Given the description of an element on the screen output the (x, y) to click on. 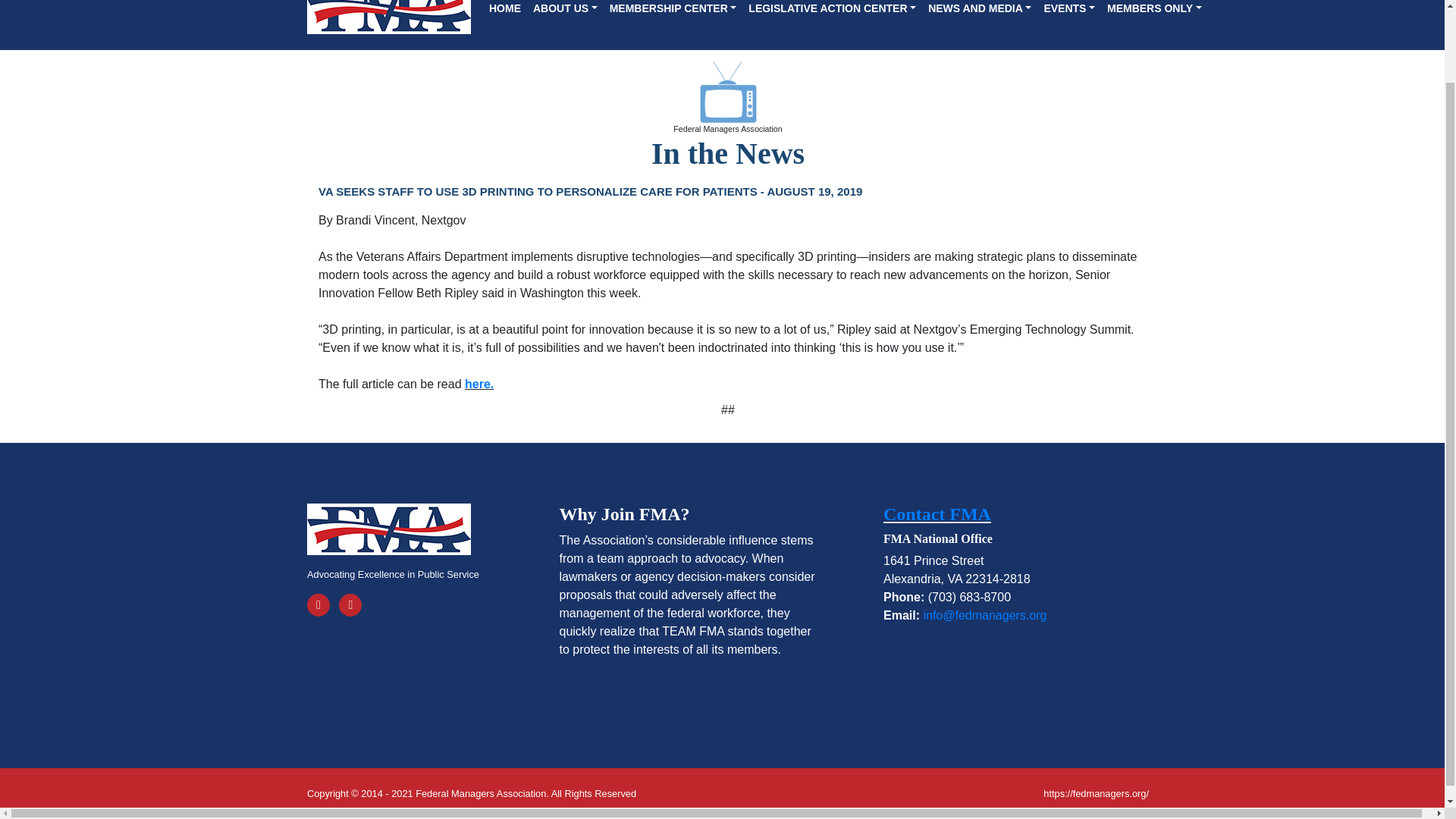
LEGISLATIVE ACTION CENTER (831, 11)
HOME (505, 11)
MEMBERSHIP CENTER (673, 11)
ABOUT US (565, 11)
